Given the description of an element on the screen output the (x, y) to click on. 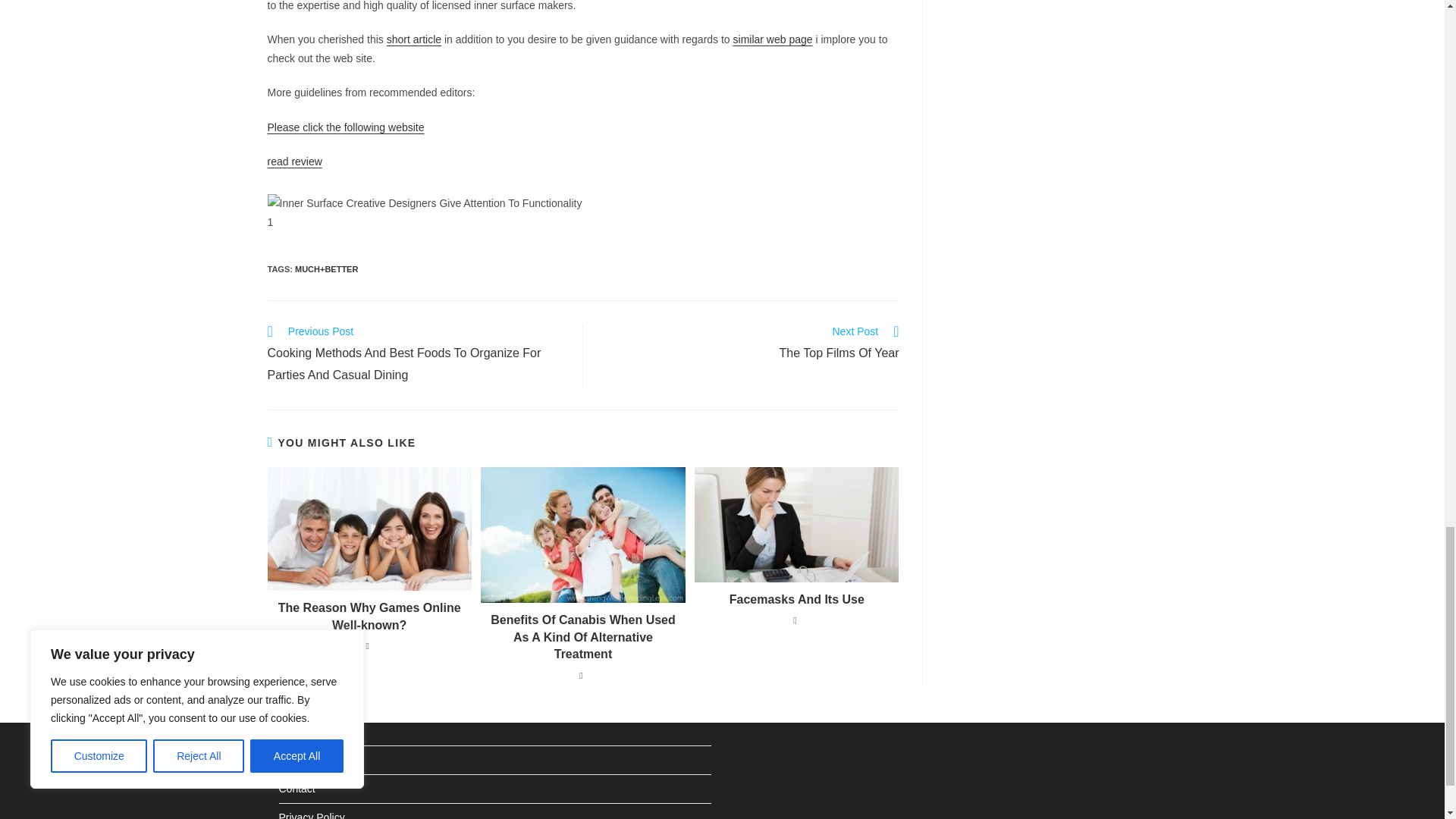
Please click the following website (344, 127)
short article (414, 39)
similar web page (772, 39)
read review (293, 161)
